Given the description of an element on the screen output the (x, y) to click on. 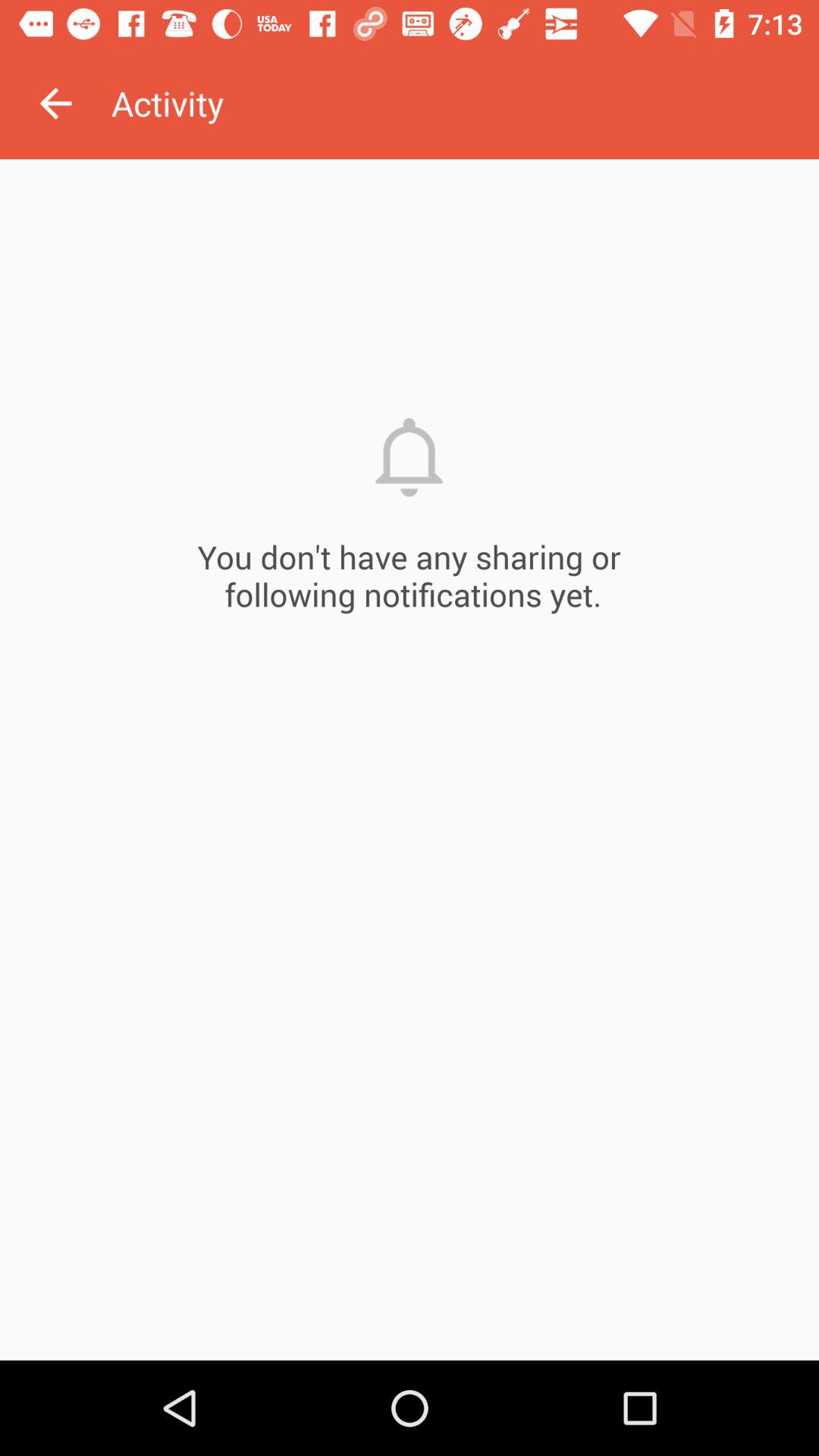
turn on item to the left of activity (55, 103)
